Given the description of an element on the screen output the (x, y) to click on. 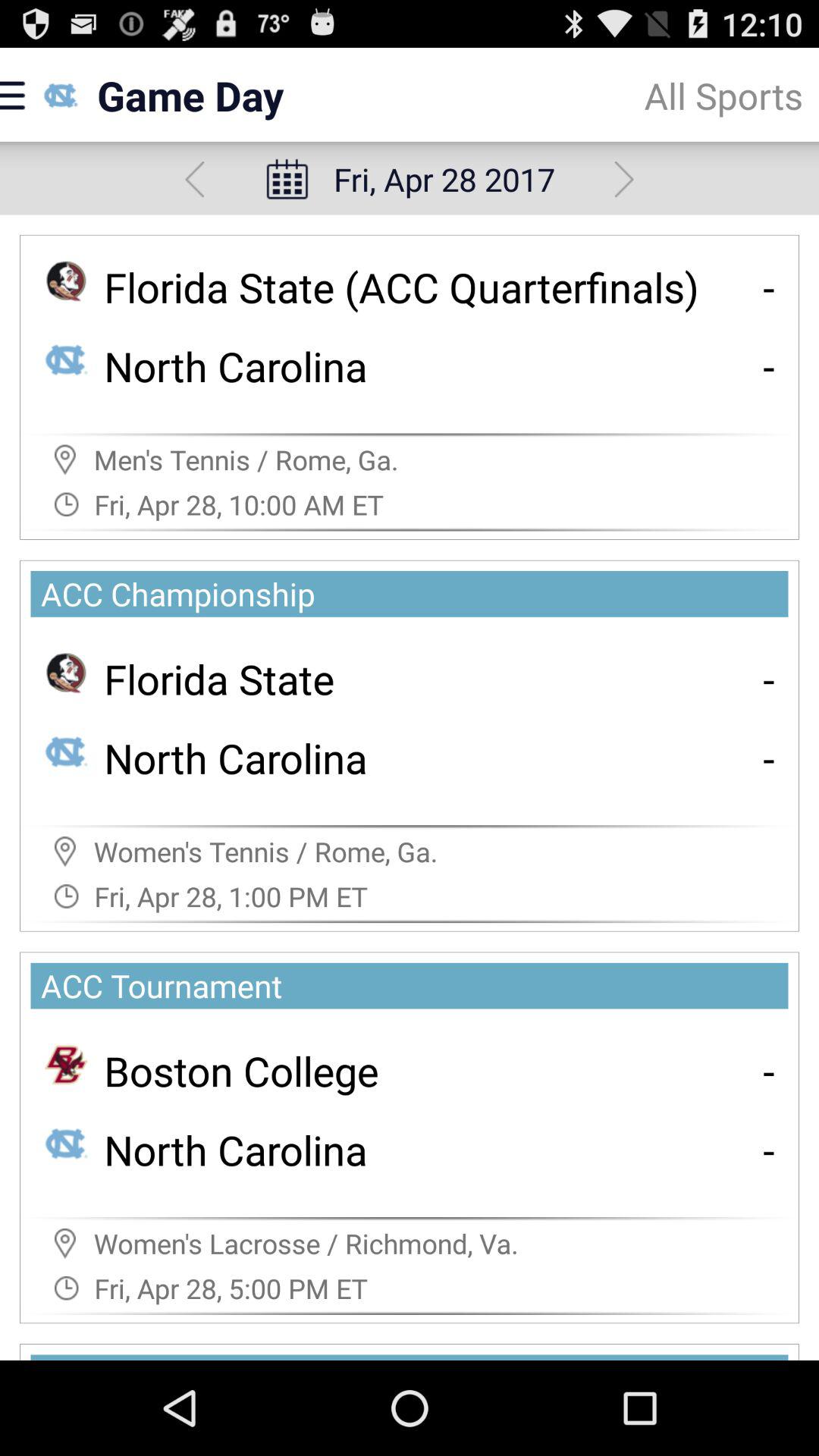
scroll until - item (768, 678)
